Given the description of an element on the screen output the (x, y) to click on. 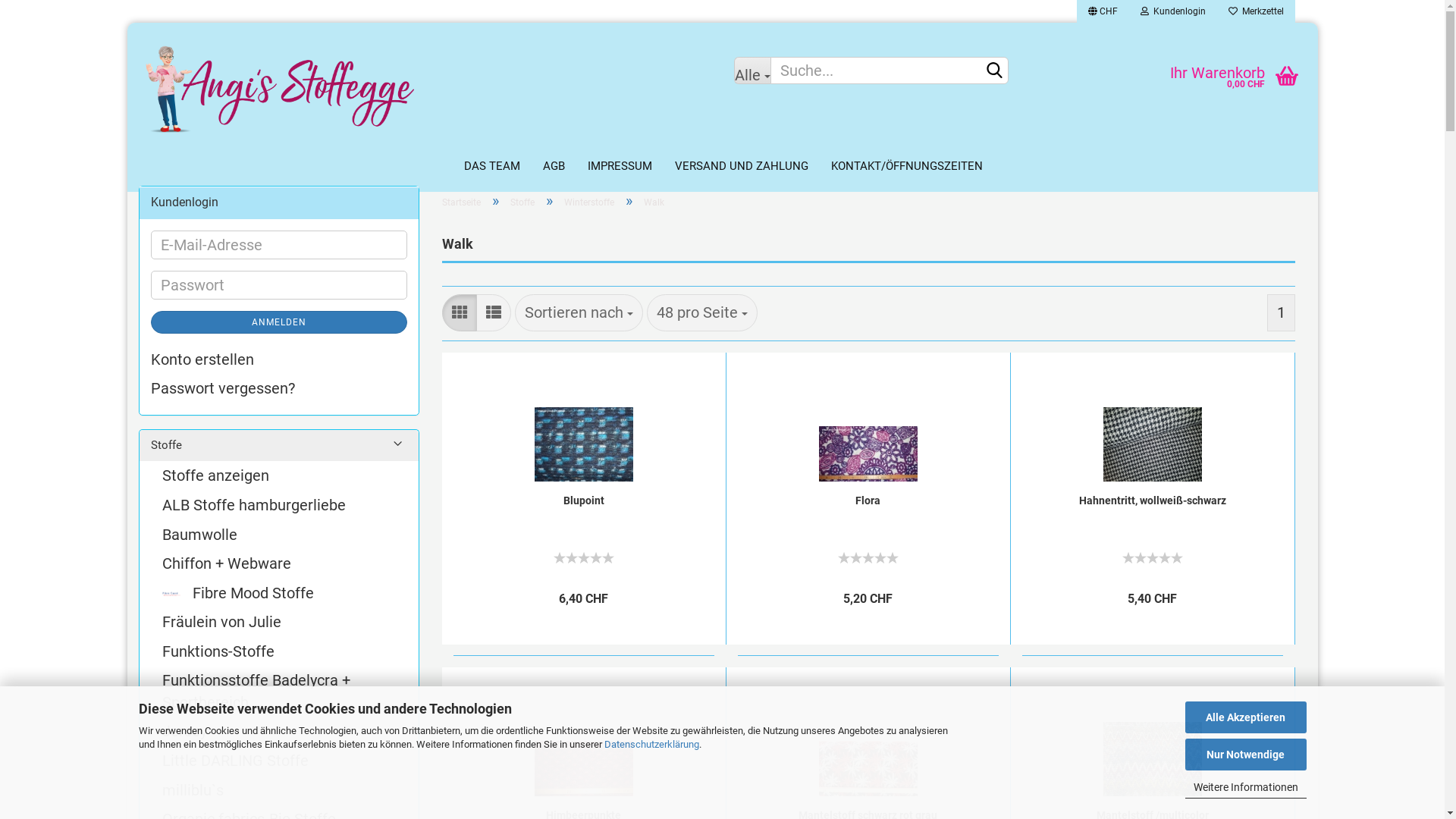
Bisher wurden keine Rezensionen zu diesem Produkt abgegeben Element type: hover (583, 555)
Funktionsstoffe Badelycra + Sportbereich Element type: text (278, 690)
VERSAND UND ZAHLUNG Element type: text (740, 166)
Alle Element type: text (752, 70)
Nur Notwendige Element type: text (1244, 754)
Mantelstoff  schwarz rot grau Element type: hover (868, 743)
Mantelstoff /multicolor Element type: hover (1151, 743)
Stoffe Element type: text (521, 202)
Blupoint Element type: hover (583, 428)
Little DARLING Stoffe Element type: text (278, 760)
CHF Element type: text (1102, 13)
Bisher wurden keine Rezensionen zu diesem Produkt abgegeben Element type: hover (867, 555)
Blupoint Element type: hover (583, 562)
Sortieren nach Element type: text (578, 312)
Anmelden Element type: text (1089, 192)
Himbeerpunkte Element type: hover (583, 743)
Jersey Element type: text (278, 731)
Chiffon + Webware Element type: text (278, 563)
Flora Element type: text (867, 500)
Alle Akzeptieren Element type: text (1244, 716)
Fibre Mood Stoffe Element type: text (278, 593)
Baumwolle Element type: text (278, 534)
Angis Stoffegge Element type: hover (424, 86)
Winterstoffe Element type: text (589, 202)
Passwort vergessen? Element type: text (278, 388)
DAS TEAM Element type: text (490, 166)
Blupoint Element type: text (582, 500)
Stoffe Element type: text (278, 445)
IMPRESSUM Element type: text (619, 166)
Flora Element type: hover (868, 428)
Speichern Element type: text (1019, 203)
Startseite Element type: text (460, 202)
Funktions-Stoffe Element type: text (278, 651)
ANMELDEN Element type: text (278, 321)
Flora Element type: hover (867, 562)
 Merkzettel Element type: text (1255, 13)
48 pro Seite Element type: text (701, 312)
milliblu`s Element type: text (278, 790)
AGB Element type: text (552, 166)
Weitere Informationen Element type: text (1244, 787)
Stoffe anzeigen Element type: text (278, 475)
 Kundenlogin Element type: text (1172, 13)
Konto erstellen Element type: text (278, 359)
ALB Stoffe hamburgerliebe Element type: text (278, 505)
Bisher wurden keine Rezensionen zu diesem Produkt abgegeben Element type: hover (1152, 555)
Ihr Warenkorb
0,00 CHF Element type: text (1168, 64)
